Given the description of an element on the screen output the (x, y) to click on. 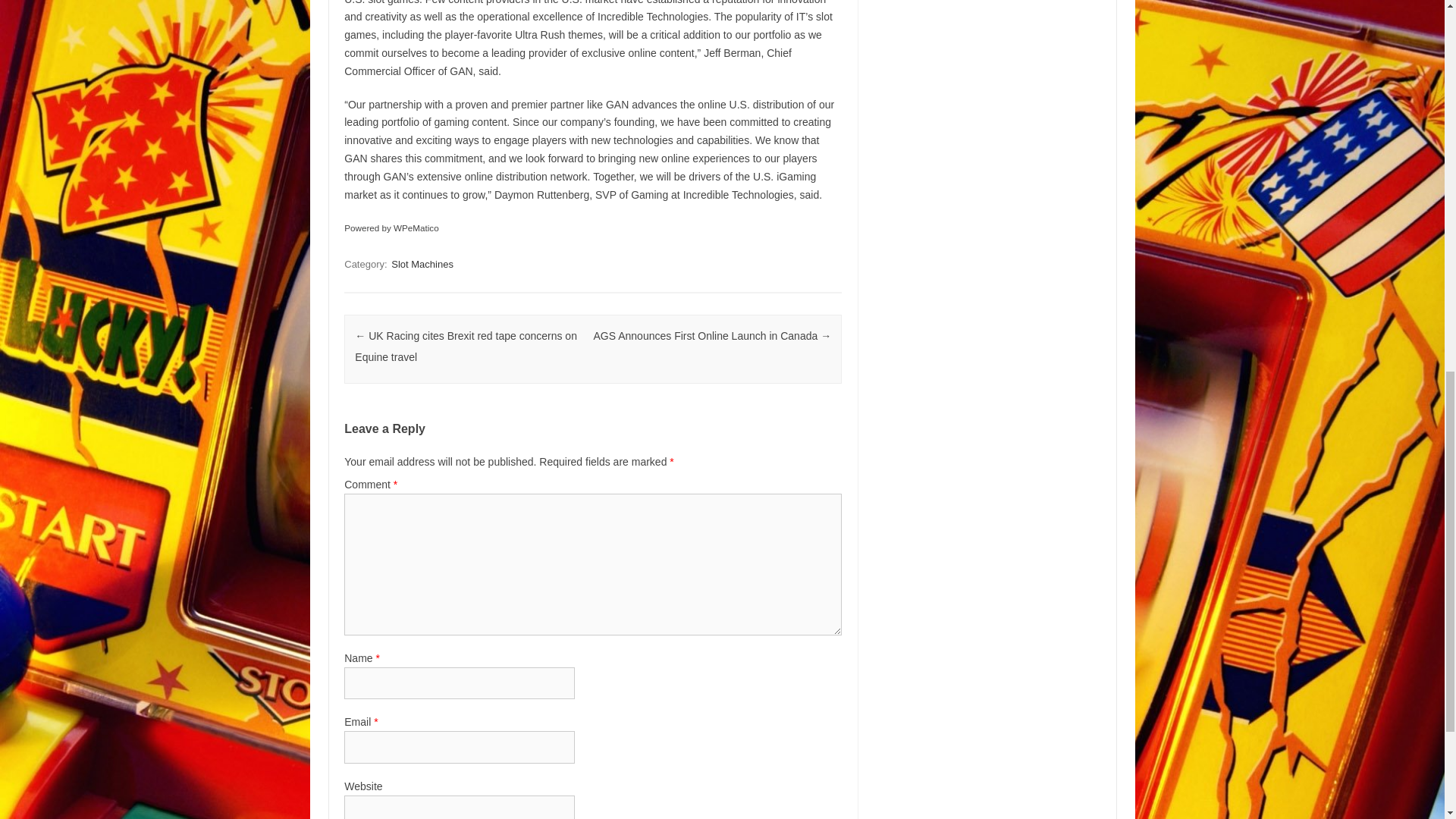
Slot Machines (422, 264)
